Given the description of an element on the screen output the (x, y) to click on. 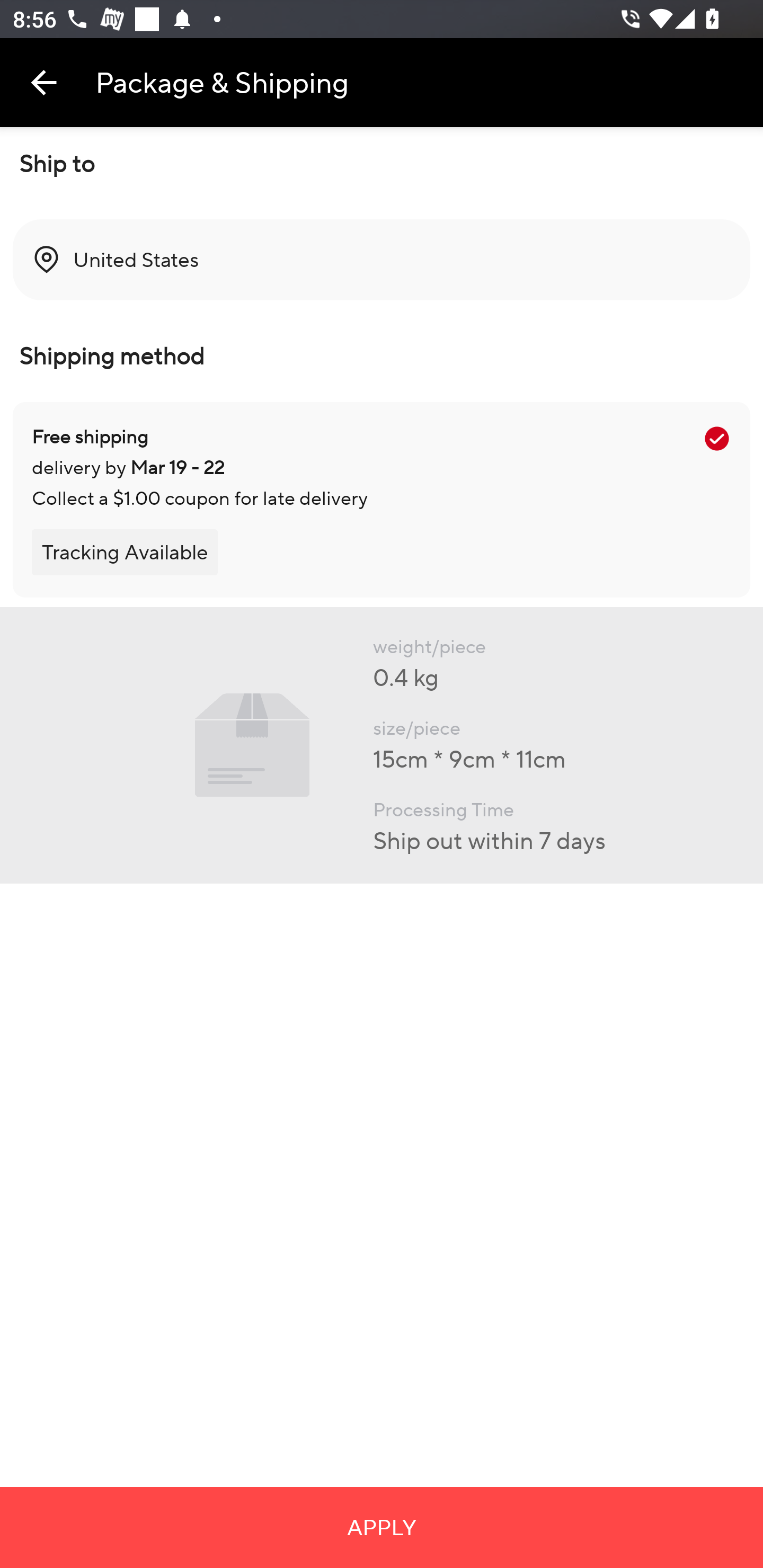
 United States (381, 260)
APPLY (381, 1527)
